Given the description of an element on the screen output the (x, y) to click on. 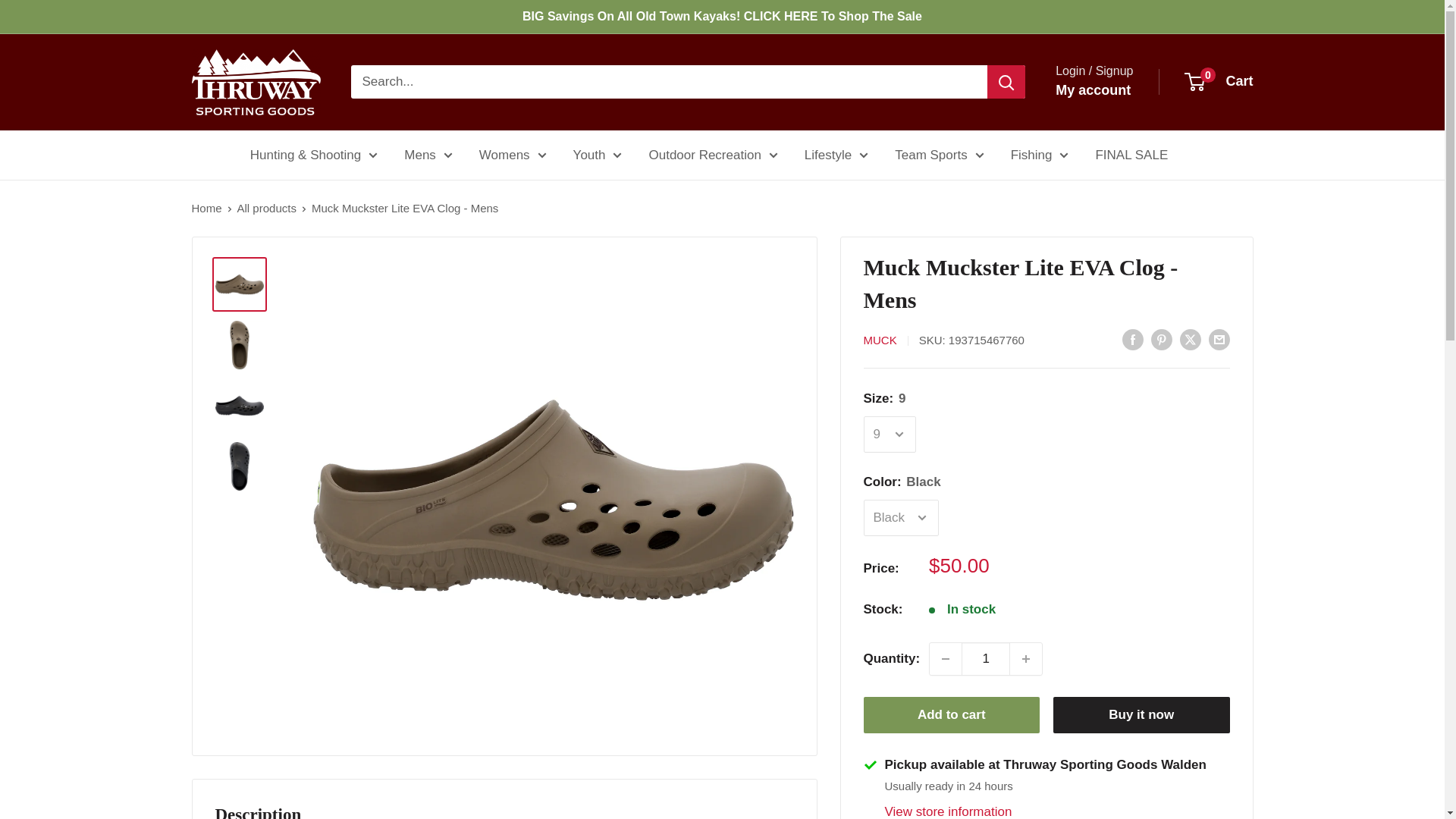
1 (985, 658)
Decrease quantity by 1 (945, 658)
Increase quantity by 1 (1026, 658)
